Given the description of an element on the screen output the (x, y) to click on. 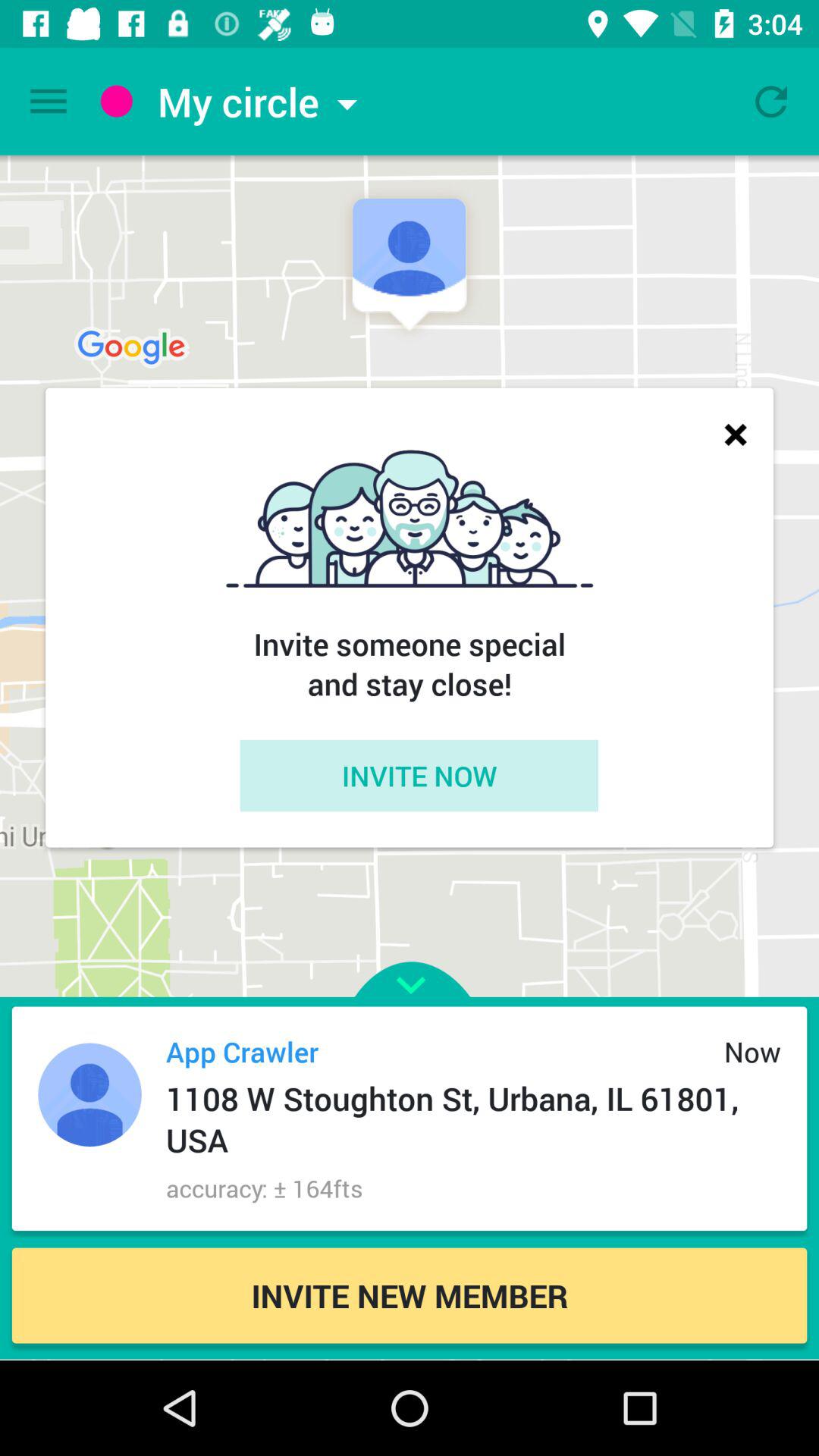
cloes (735, 434)
